Given the description of an element on the screen output the (x, y) to click on. 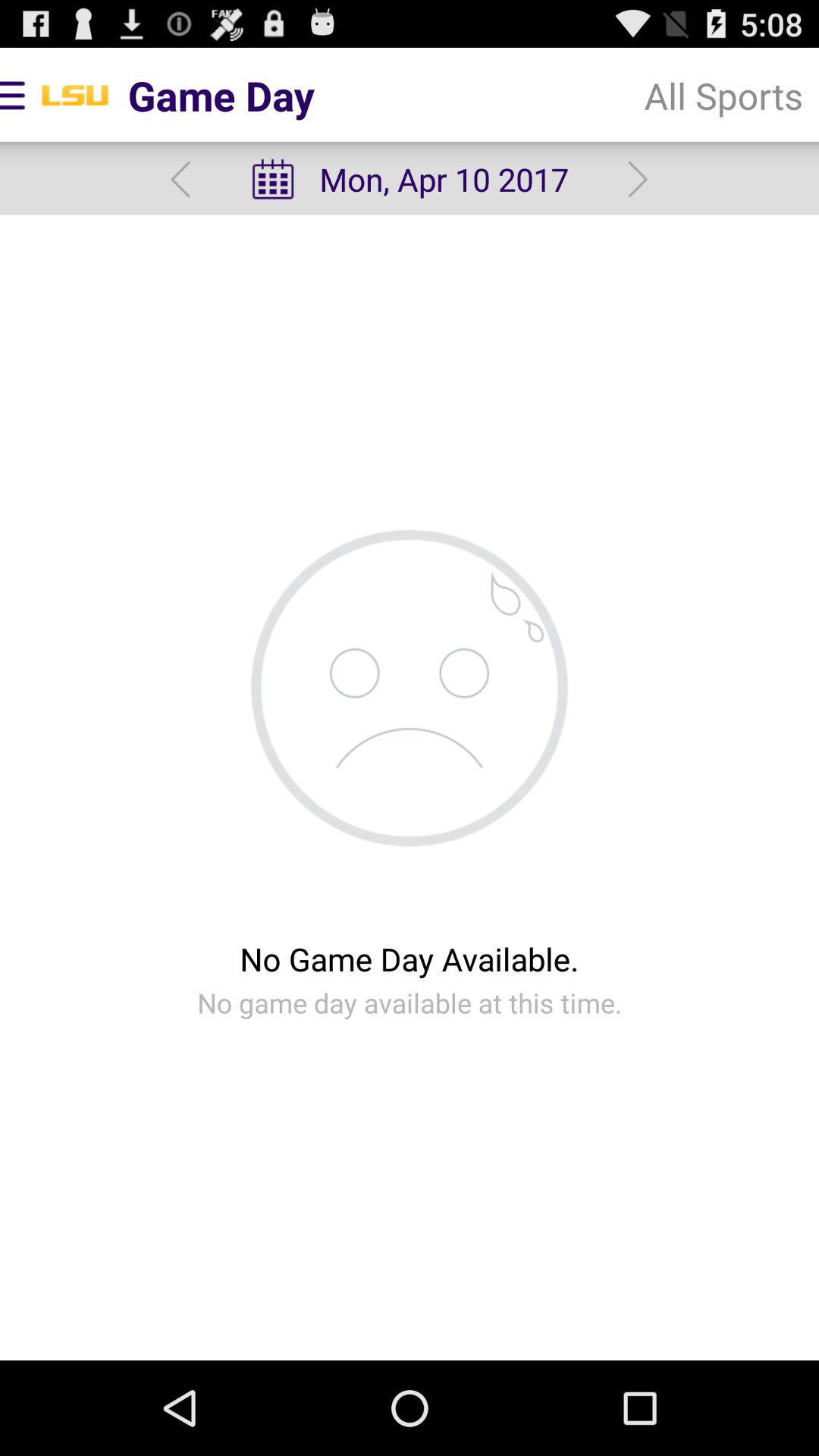
turn on app next to the mon apr 10 (723, 95)
